Given the description of an element on the screen output the (x, y) to click on. 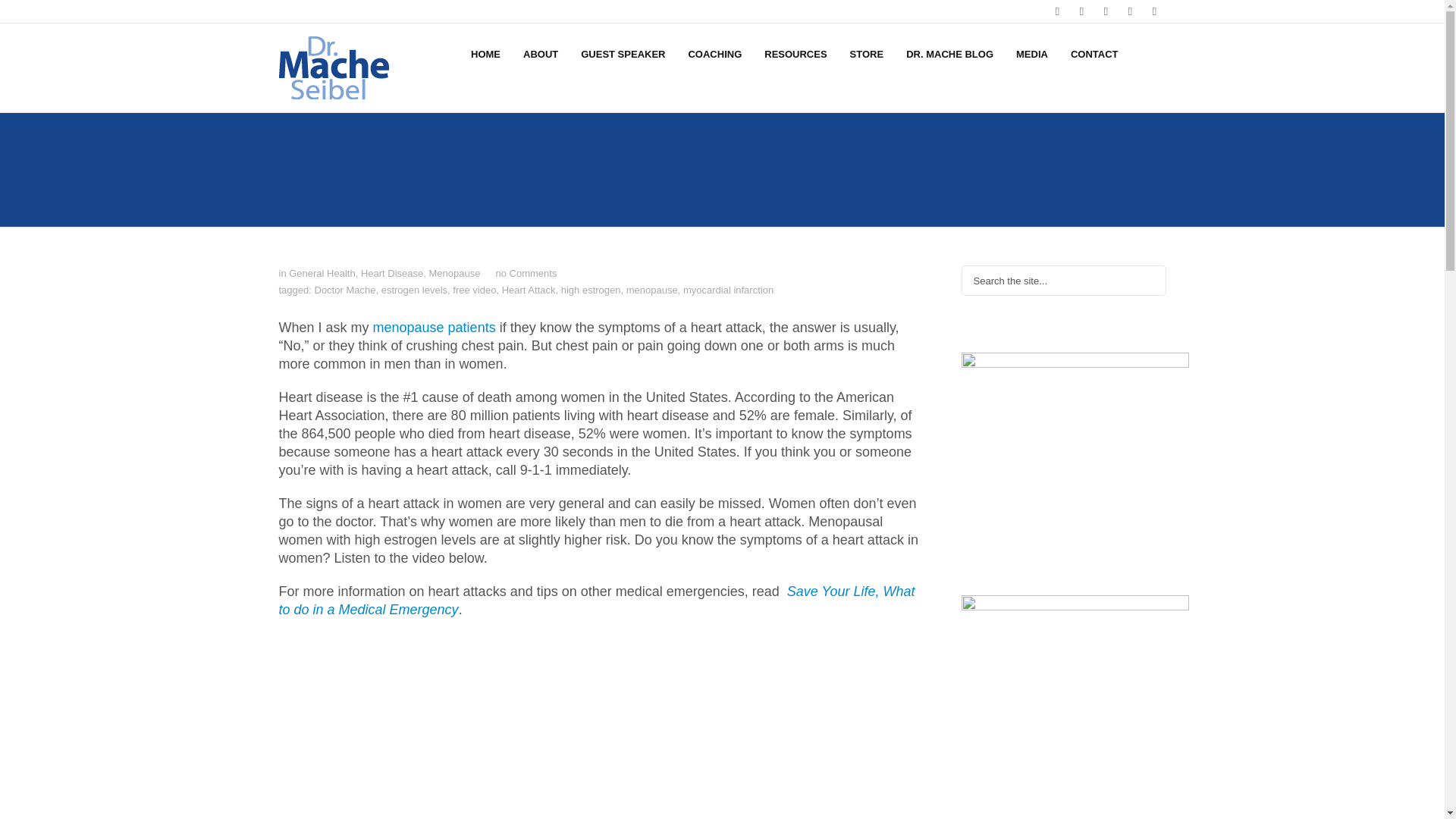
STORE (866, 52)
General Health (321, 273)
YouTube (1130, 11)
GUEST SPEAKER (623, 52)
ABOUT (540, 52)
MEDIA (1031, 52)
RESOURCES (795, 52)
CONTACT (1094, 52)
Heart Disease (392, 273)
RSS (1154, 11)
